Given the description of an element on the screen output the (x, y) to click on. 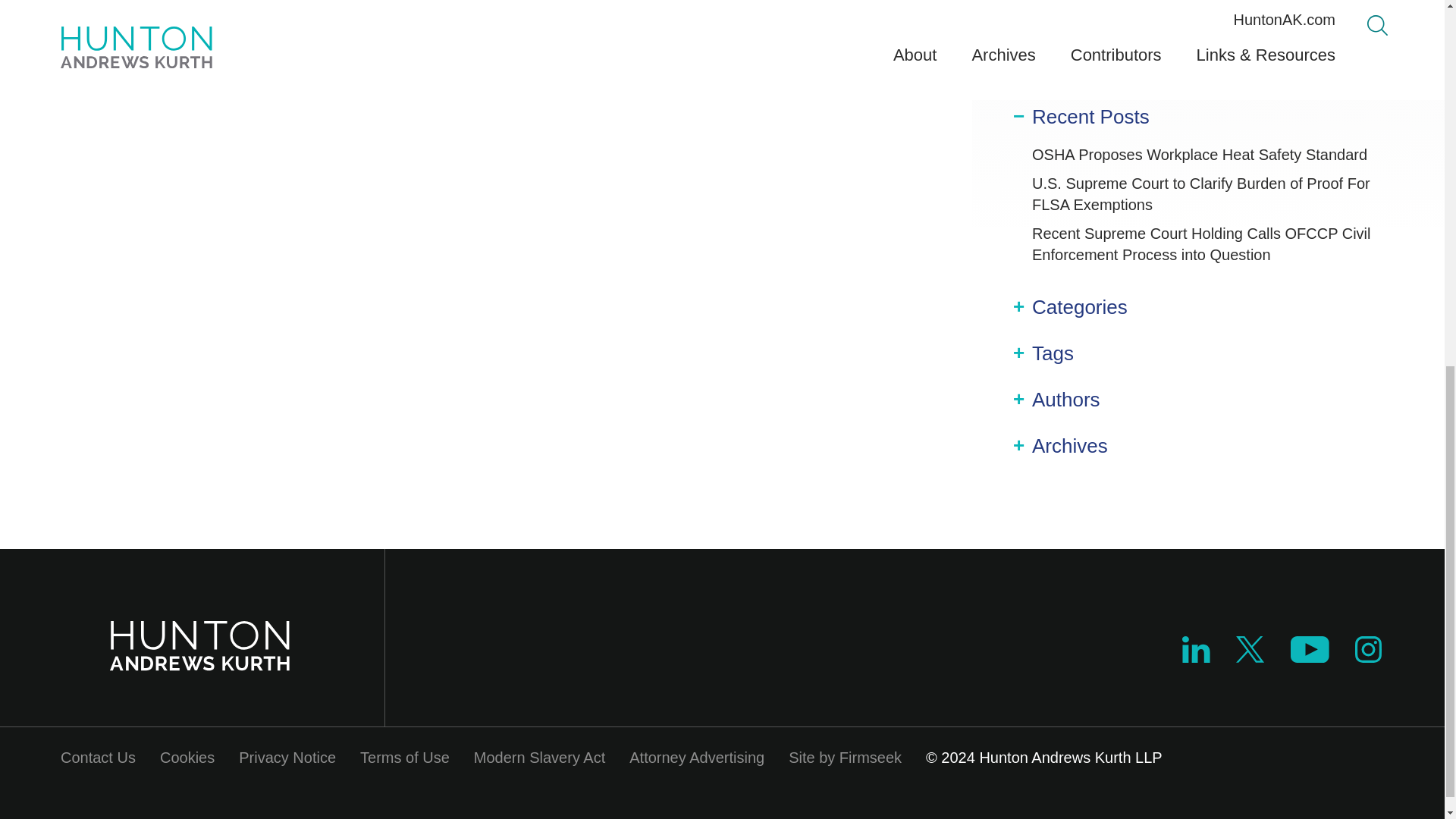
Tags (1053, 353)
Instagram (1368, 649)
Categories (1079, 307)
Instagram (1369, 657)
Subscribe (1208, 58)
Linkedin (1195, 657)
Linkedin (1195, 649)
OSHA Proposes Workplace Heat Safety Standard (1199, 154)
X (1250, 657)
Youtube (1309, 649)
Recent Posts (1091, 116)
Youtube (1309, 657)
